Given the description of an element on the screen output the (x, y) to click on. 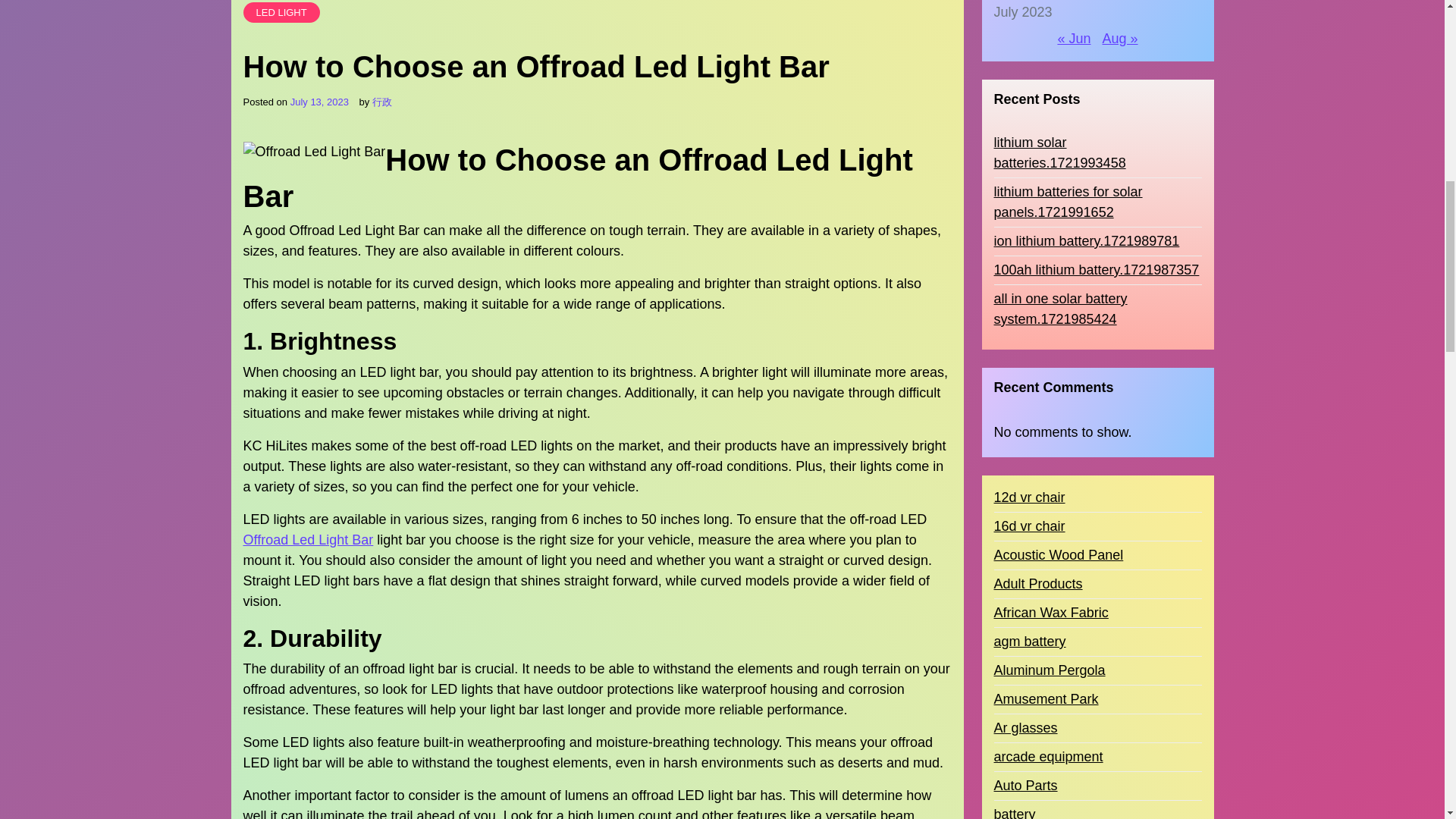
July 13, 2023 (319, 102)
Offroad Led Light Bar (307, 539)
all in one solar battery system.1721985424 (1096, 1)
16d vr chair (1028, 199)
Adult Products (1036, 256)
Acoustic Wood Panel (1057, 227)
African Wax Fabric (1050, 285)
LED LIGHT (280, 12)
12d vr chair (1028, 169)
